Given the description of an element on the screen output the (x, y) to click on. 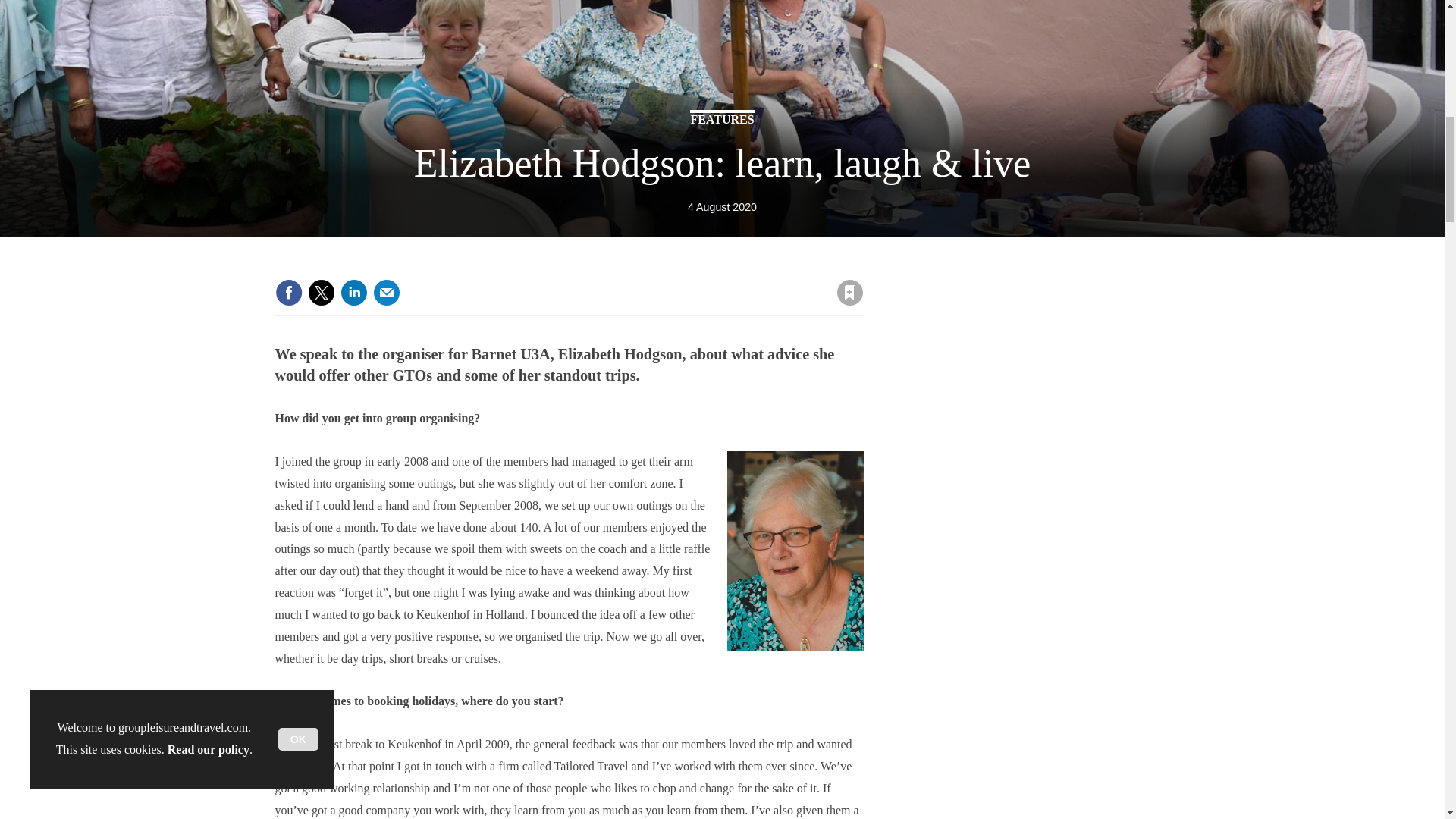
Share this on Facebook (288, 292)
Share this on LinkedIn (352, 292)
Email this article (386, 292)
